Given the description of an element on the screen output the (x, y) to click on. 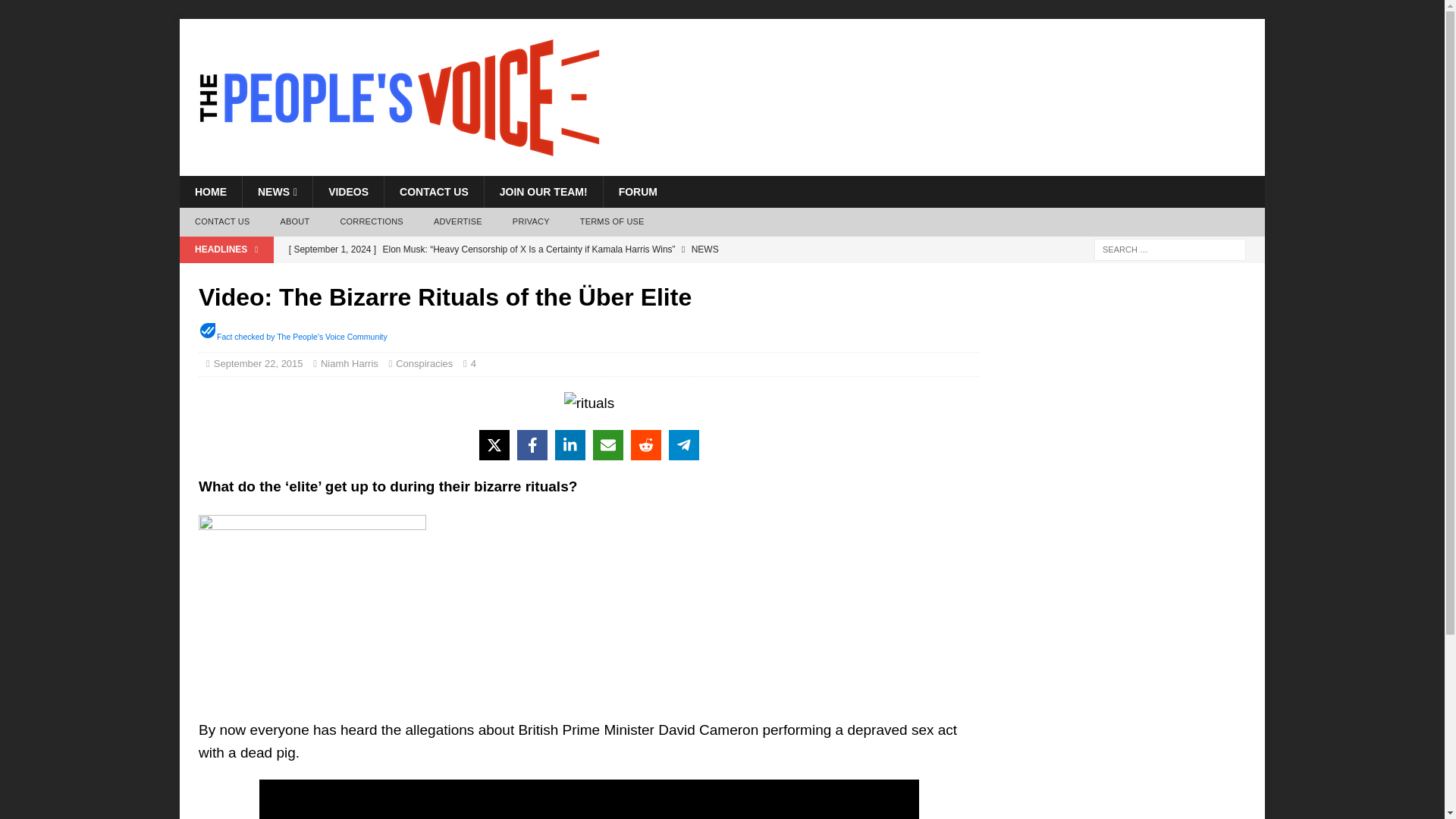
Search (56, 11)
PRIVACY (530, 222)
CONTACT US (433, 192)
CORRECTIONS (370, 222)
HOME (210, 192)
Niamh Harris (349, 363)
Fact checked by The People's Voice Community (301, 336)
ADVERTISE (458, 222)
JOIN OUR TEAM! (542, 192)
FORUM (637, 192)
